Given the description of an element on the screen output the (x, y) to click on. 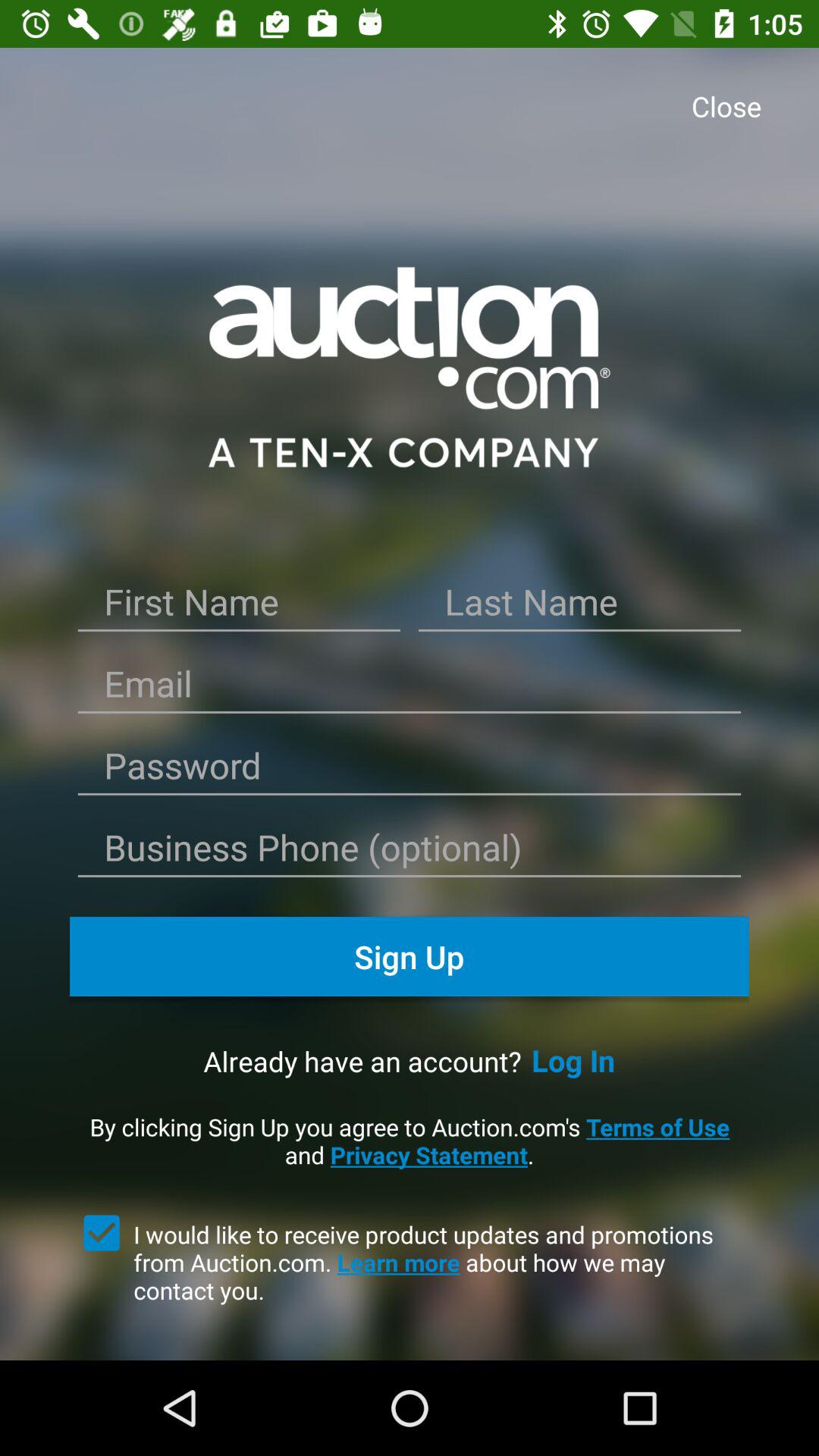
press the i would like item (441, 1262)
